Given the description of an element on the screen output the (x, y) to click on. 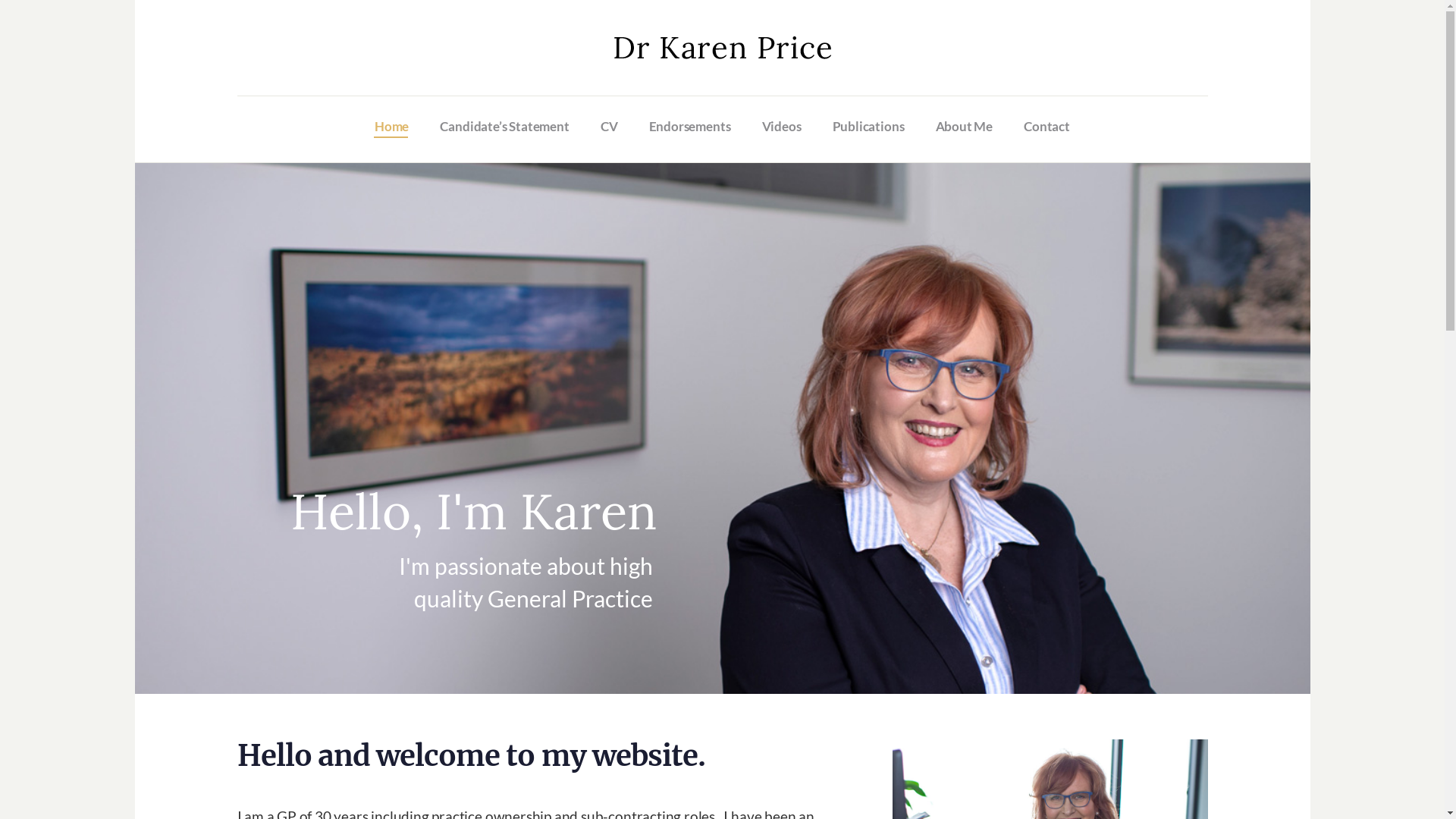
Endorsements Element type: text (689, 126)
Contact Element type: text (1046, 126)
Home Element type: text (390, 126)
About Me Element type: text (963, 126)
Videos Element type: text (781, 126)
Publications Element type: text (867, 126)
CV Element type: text (608, 126)
